Given the description of an element on the screen output the (x, y) to click on. 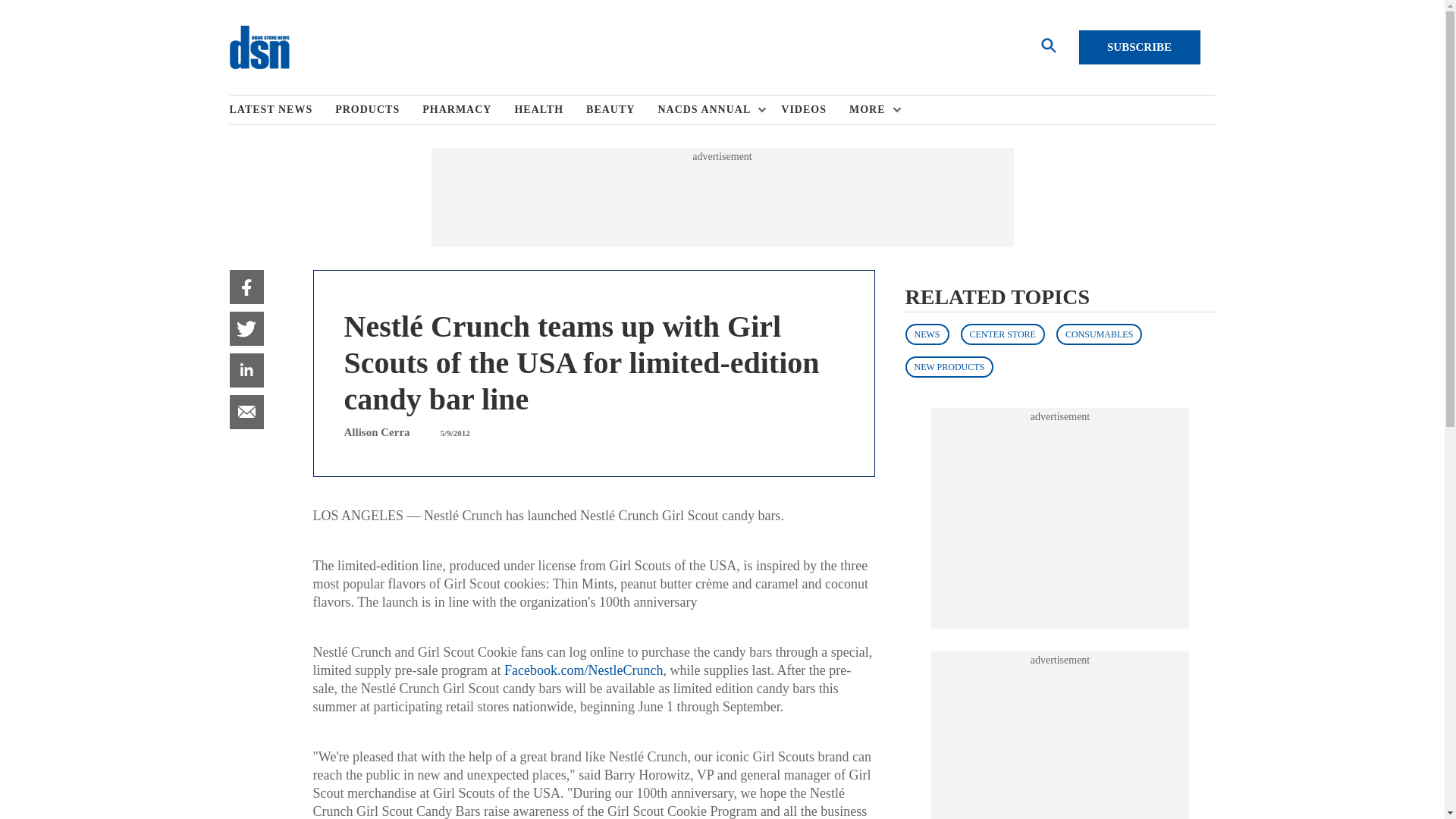
email (245, 411)
CONSUMABLES (1099, 333)
NACDS ANNUAL (708, 109)
email (245, 411)
LATEST NEWS (281, 109)
NEW PRODUCTS (949, 366)
PRODUCTS (378, 109)
3rd party ad content (1059, 518)
CENTER STORE (1001, 333)
HEALTH (549, 109)
VIDEOS (814, 109)
3rd party ad content (721, 197)
MORE (870, 109)
BEAUTY (622, 109)
linkedIn (245, 369)
